Given the description of an element on the screen output the (x, y) to click on. 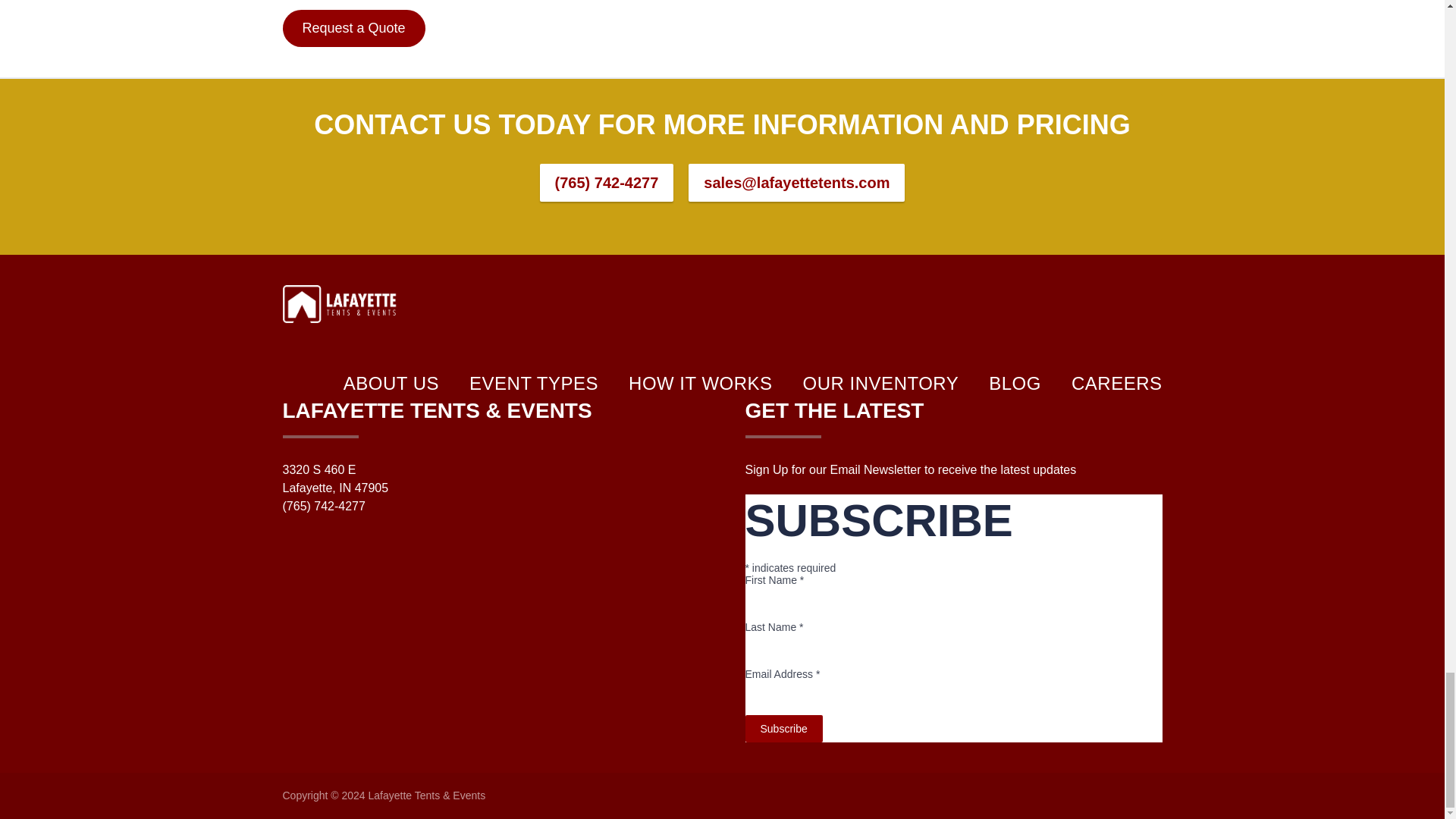
EVENT TYPES (533, 383)
ABOUT US (391, 383)
Subscribe (783, 728)
Request a Quote (353, 27)
